Given the description of an element on the screen output the (x, y) to click on. 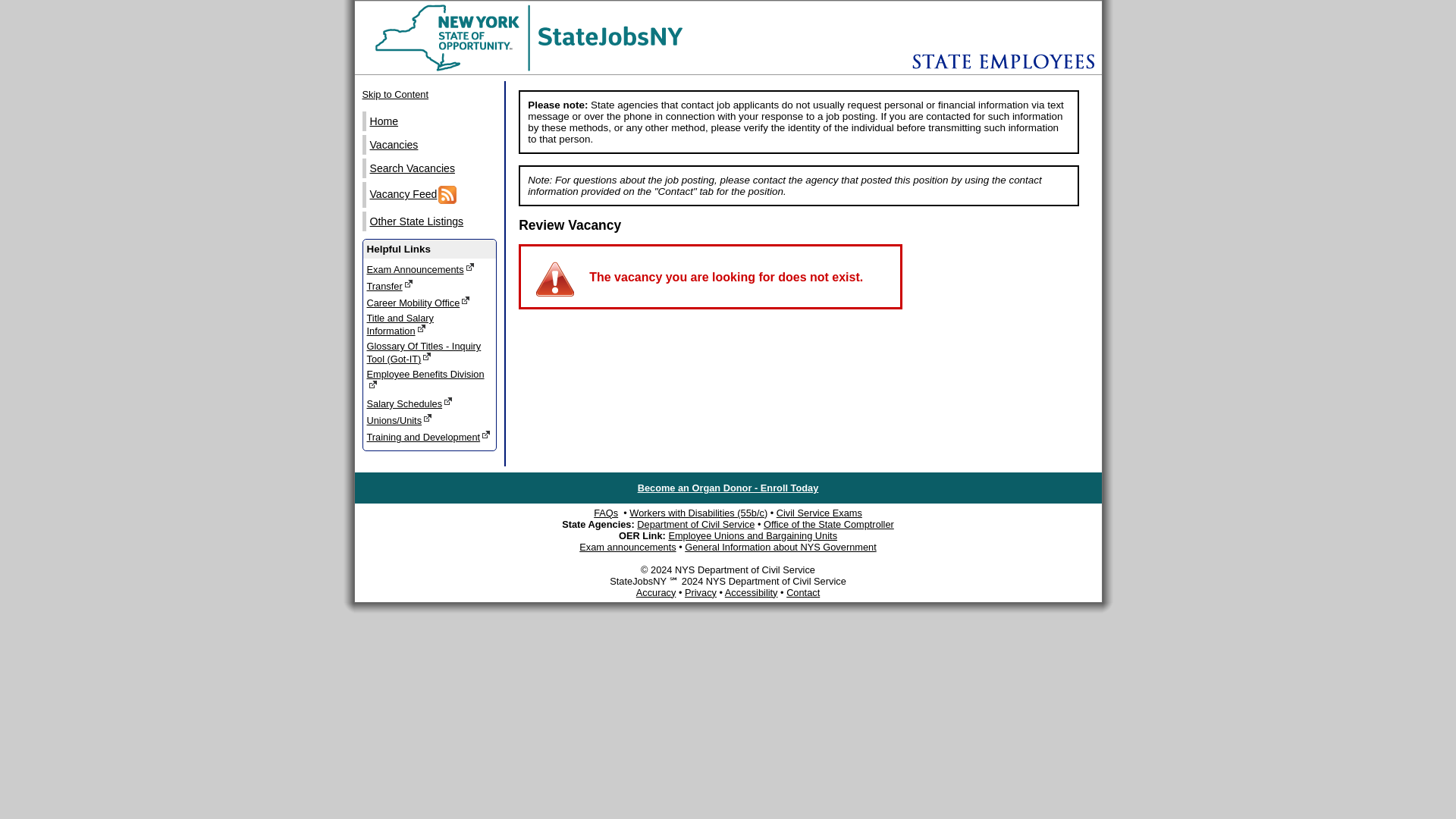
Vacancy Feed (430, 194)
Employee Benefits Division (429, 380)
General Information about NYS Government (780, 546)
Civil Service Exams (818, 512)
Employee Unions and Bargaining Units (752, 535)
Become an Organ Donor - Enroll Today (727, 487)
Exam Announcements (429, 268)
Transfer (429, 285)
Salary Schedules (429, 402)
Other State Listings (430, 220)
Link to StateJobsNY home page (548, 70)
Privacy (700, 592)
Skip to Content (429, 93)
Accuracy (656, 592)
Exam announcements (627, 546)
